Given the description of an element on the screen output the (x, y) to click on. 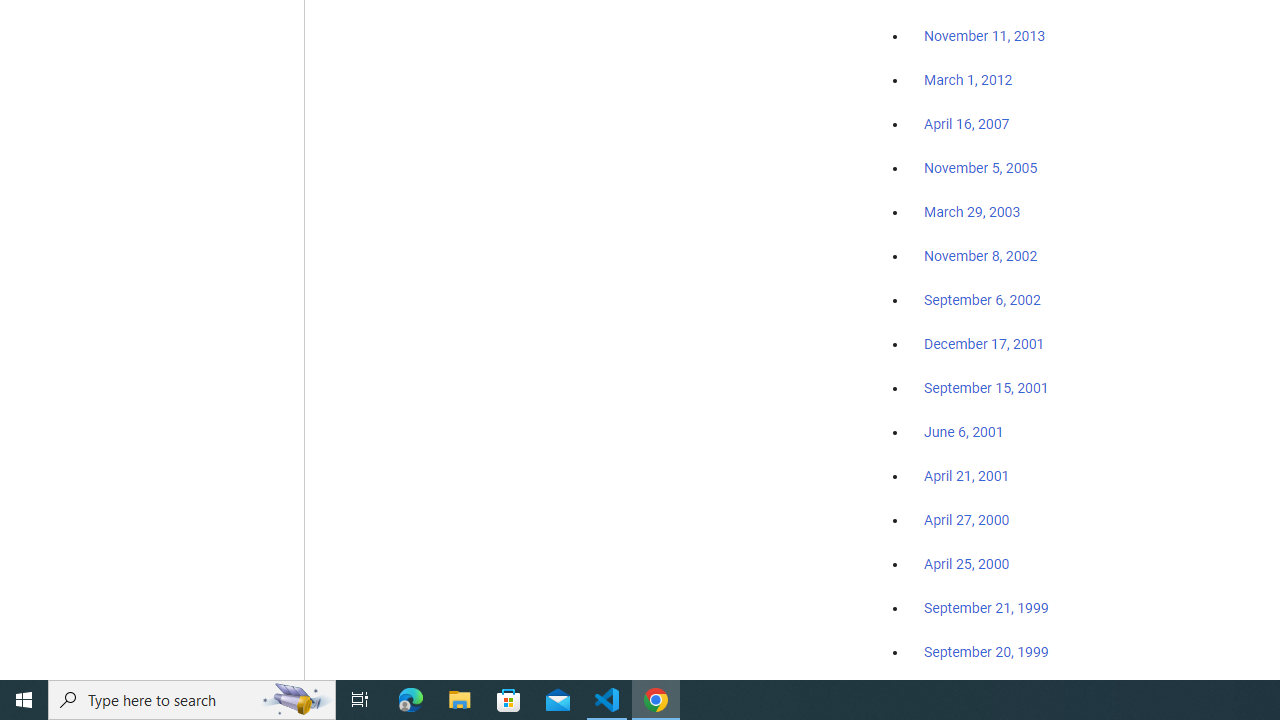
December 17, 2001 (984, 343)
November 8, 2002 (981, 255)
September 21, 1999 (986, 608)
April 21, 2001 (966, 476)
March 29, 2003 (972, 212)
April 16, 2007 (966, 124)
March 1, 2012 (968, 81)
November 5, 2005 (981, 168)
September 20, 1999 (986, 651)
April 27, 2000 (966, 520)
September 6, 2002 (982, 299)
April 25, 2000 (966, 564)
September 15, 2001 (986, 387)
November 11, 2013 (984, 37)
June 6, 2001 (963, 431)
